Given the description of an element on the screen output the (x, y) to click on. 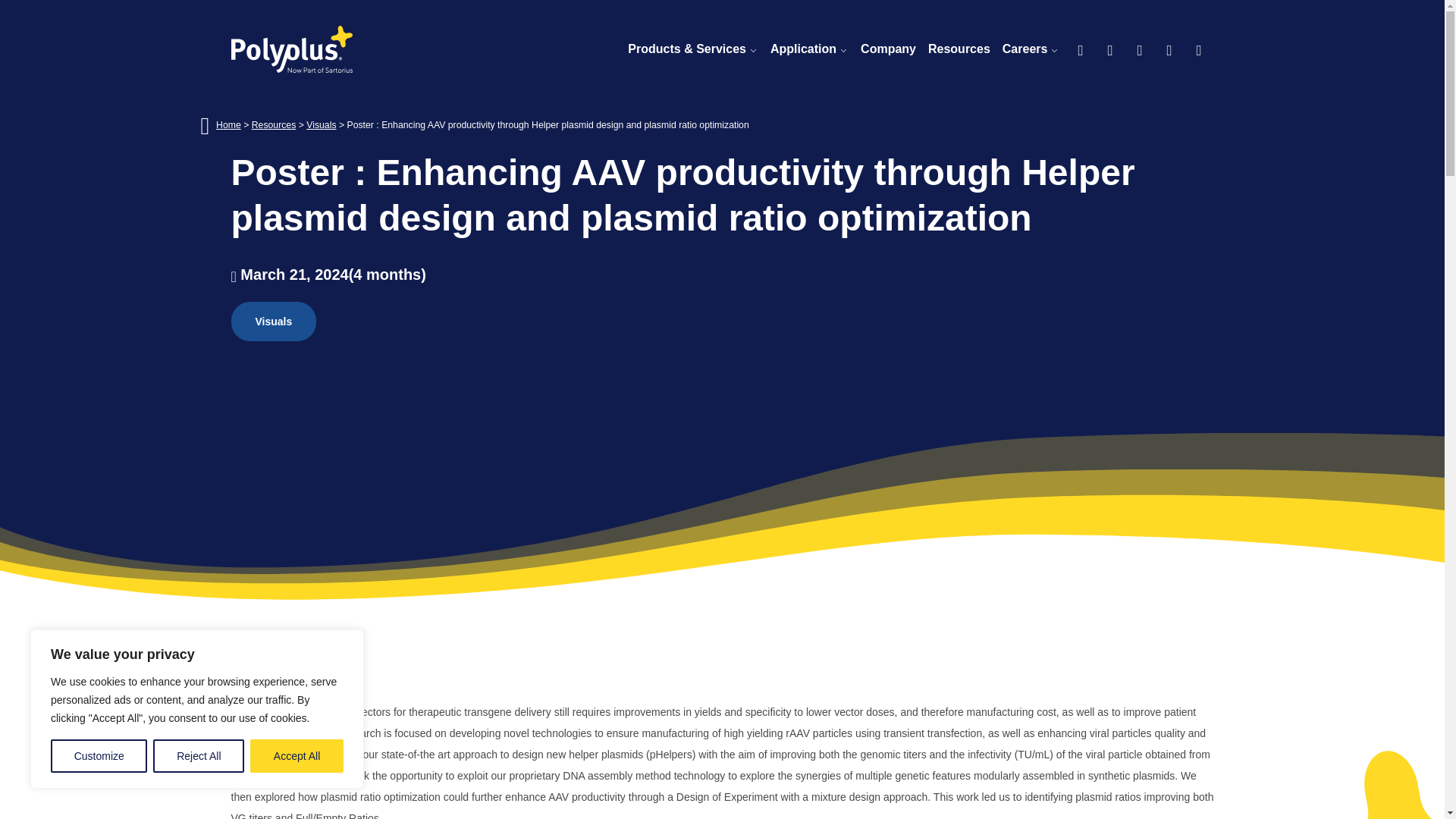
Accept All (296, 756)
Reject All (198, 756)
Go to Resources. (274, 124)
Go to Polyplus. (228, 124)
Go to the Visuals Category archives. (320, 124)
Customize (98, 756)
